Given the description of an element on the screen output the (x, y) to click on. 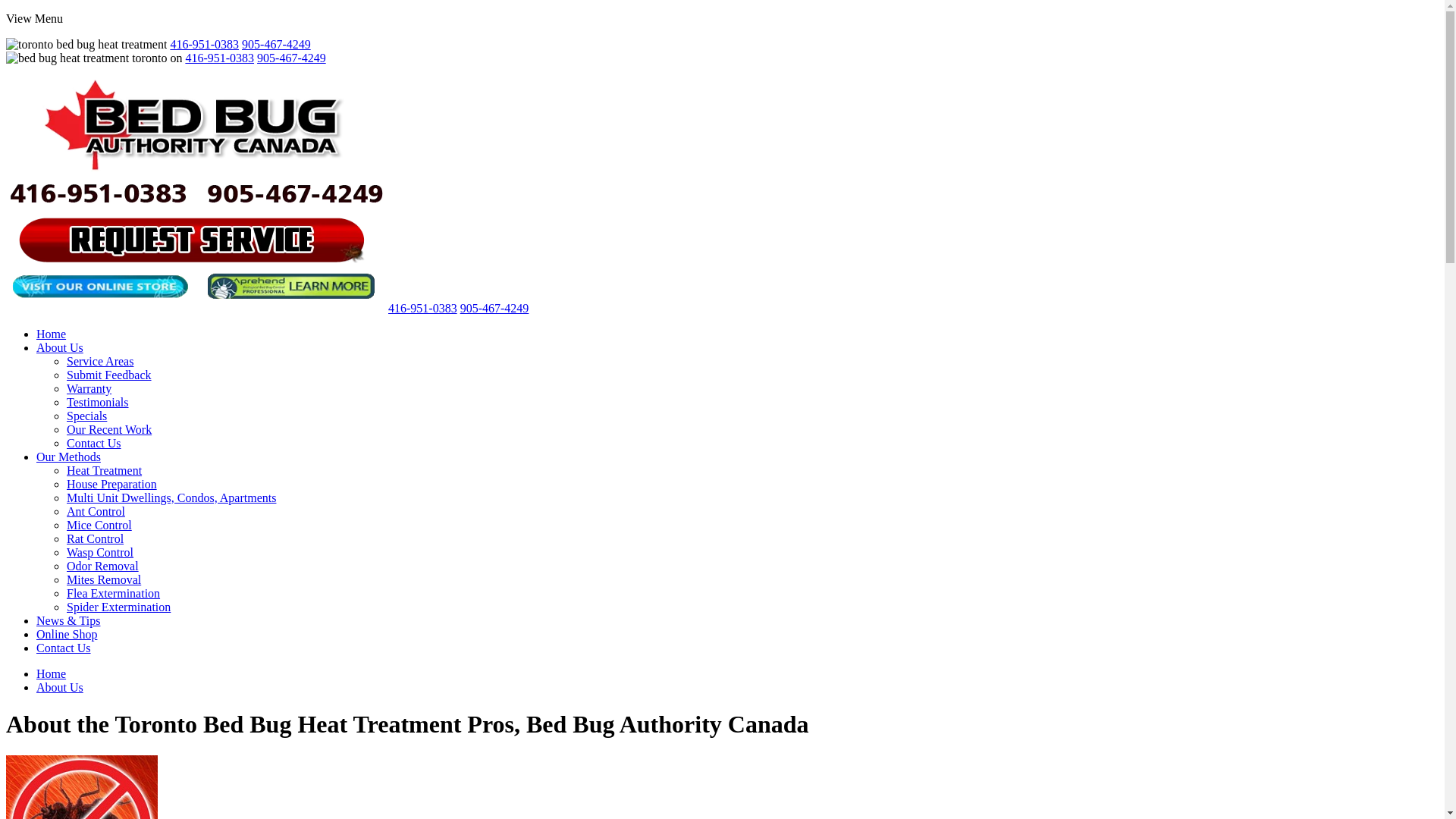
416-951-0383 Element type: text (219, 57)
416-951-0383 Element type: text (422, 307)
Submit Feedback Element type: text (108, 374)
News & Tips Element type: text (68, 620)
About Us Element type: text (59, 686)
Mice Control Element type: text (98, 524)
Warranty Element type: text (88, 388)
905-467-4249 Element type: text (291, 57)
905-467-4249 Element type: text (275, 43)
Mites Removal Element type: text (103, 579)
Spider Extermination Element type: text (118, 606)
Multi Unit Dwellings, Condos, Apartments Element type: text (171, 497)
Online Shop Element type: text (66, 633)
Wasp Control Element type: text (99, 552)
Our Methods Element type: text (68, 456)
Contact Us Element type: text (93, 442)
Odor Removal Element type: text (102, 565)
Rat Control Element type: text (94, 538)
About Us Element type: text (59, 347)
Flea Extermination Element type: text (113, 592)
416-951-0383 Element type: text (203, 43)
Home Element type: text (50, 333)
Ant Control Element type: text (95, 511)
Contact Us Element type: text (63, 647)
905-467-4249 Element type: text (494, 307)
Testimonials Element type: text (97, 401)
Specials Element type: text (86, 415)
Heat Treatment Element type: text (103, 470)
Our Recent Work Element type: text (108, 429)
Home Element type: text (50, 673)
Service Areas Element type: text (99, 360)
House Preparation Element type: text (111, 483)
